Given the description of an element on the screen output the (x, y) to click on. 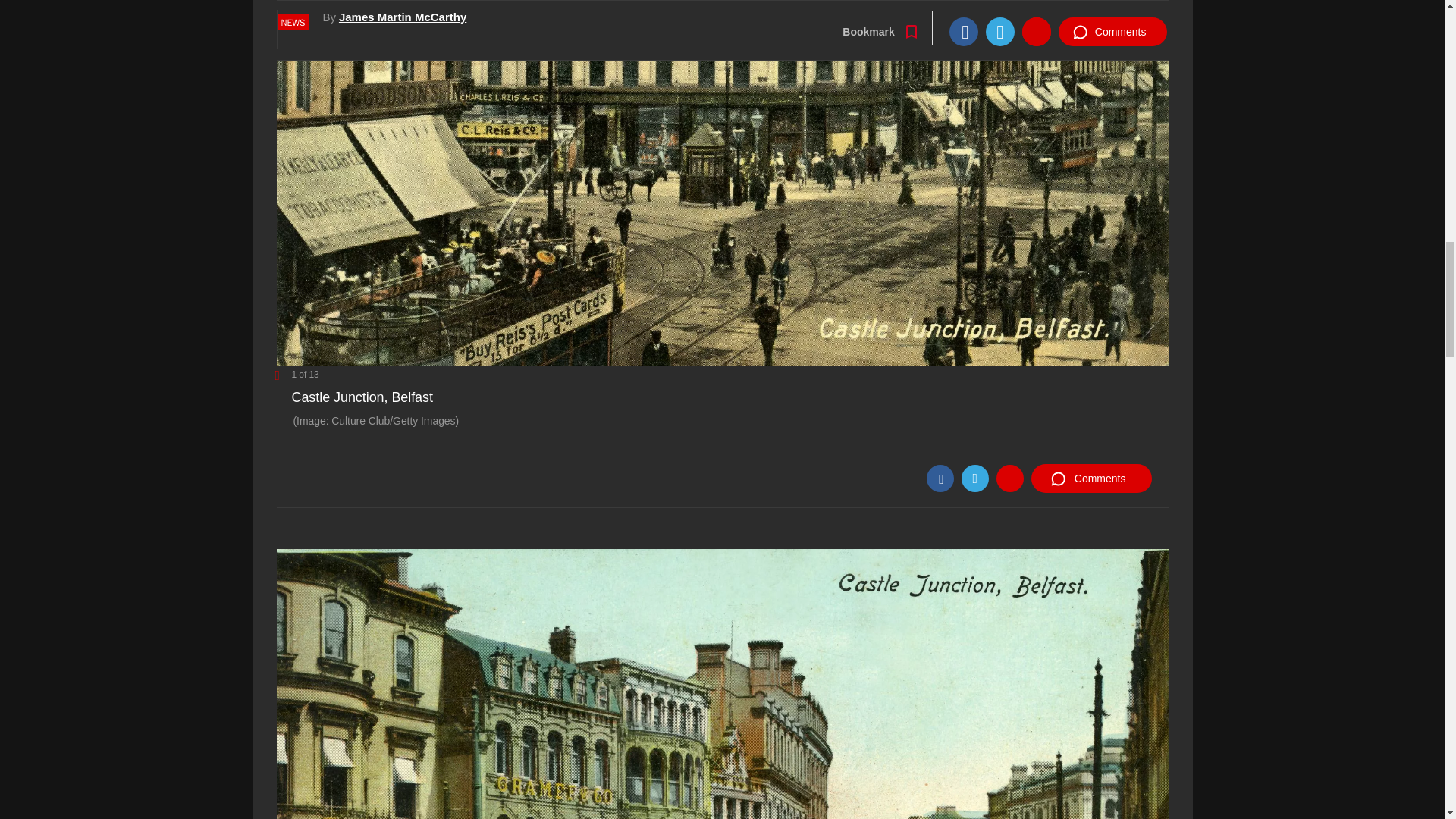
Facebook (939, 478)
Twitter (974, 478)
Comments (1090, 478)
